Given the description of an element on the screen output the (x, y) to click on. 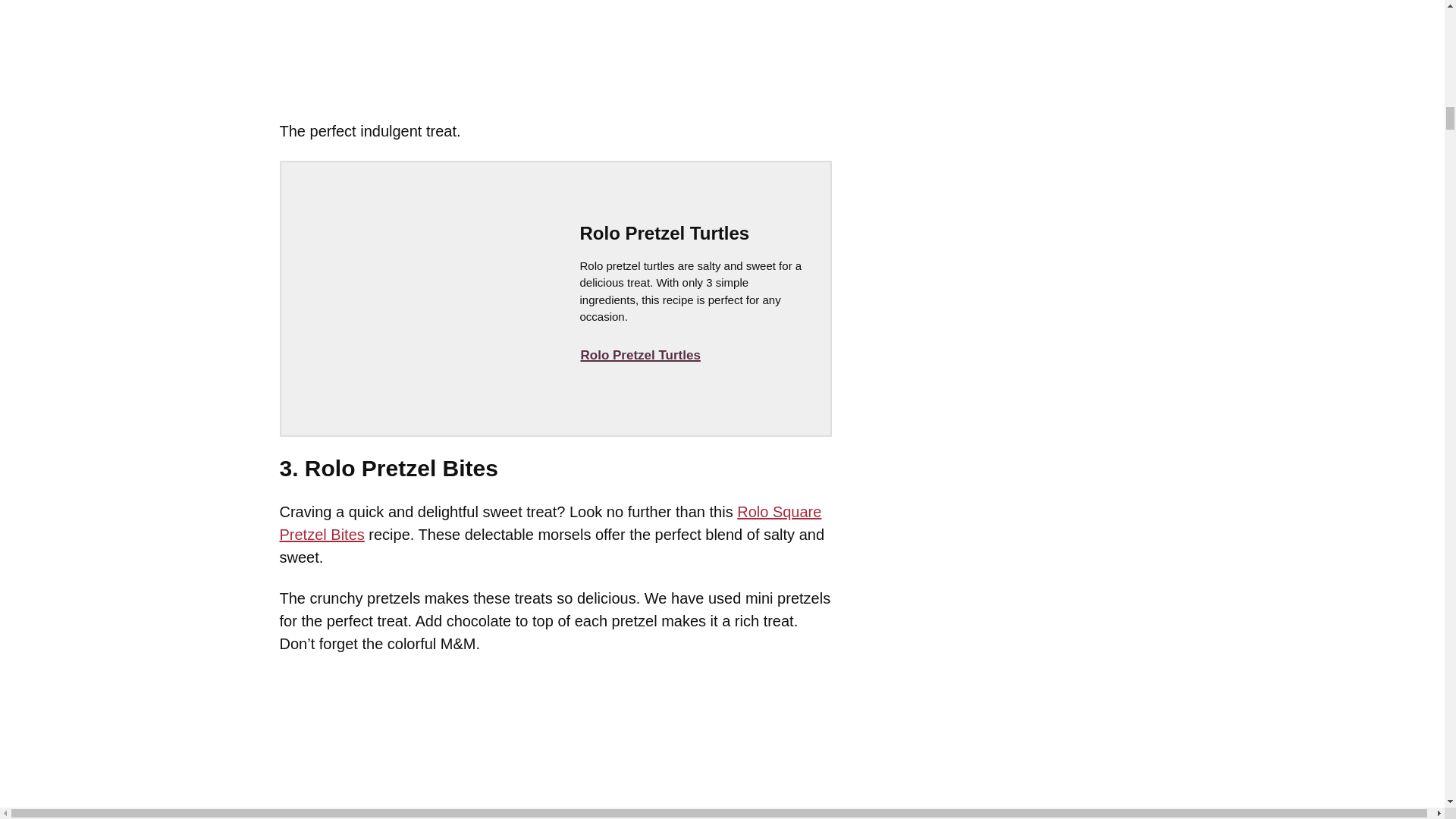
Rolo Square Pretzel Bites (550, 522)
Rolo Pretzel Turtles (639, 355)
